Given the description of an element on the screen output the (x, y) to click on. 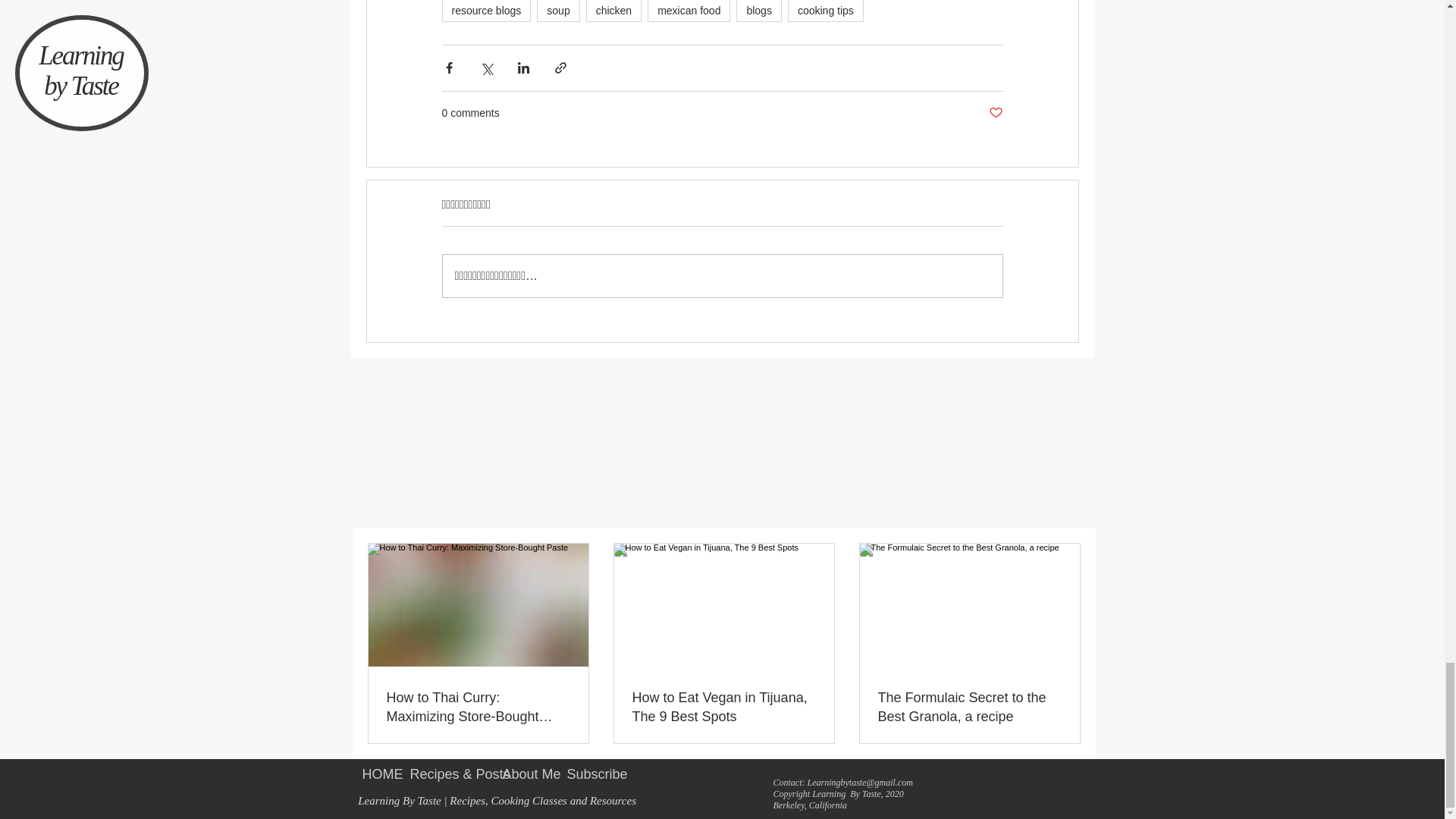
mexican food (688, 11)
How to Eat Vegan in Tijuana, The 9 Best Spots (723, 707)
HOME (373, 774)
cooking tips (825, 11)
How to Thai Curry: Maximizing Store-Bought Paste (478, 707)
About Me (524, 774)
resource blogs (486, 11)
chicken (614, 11)
soup (558, 11)
The Formulaic Secret to the Best Granola, a recipe (969, 707)
Post not marked as liked (995, 113)
blogs (758, 11)
Copyright Learning  By Taste, 2020 (838, 793)
Subscribe (587, 774)
